Given the description of an element on the screen output the (x, y) to click on. 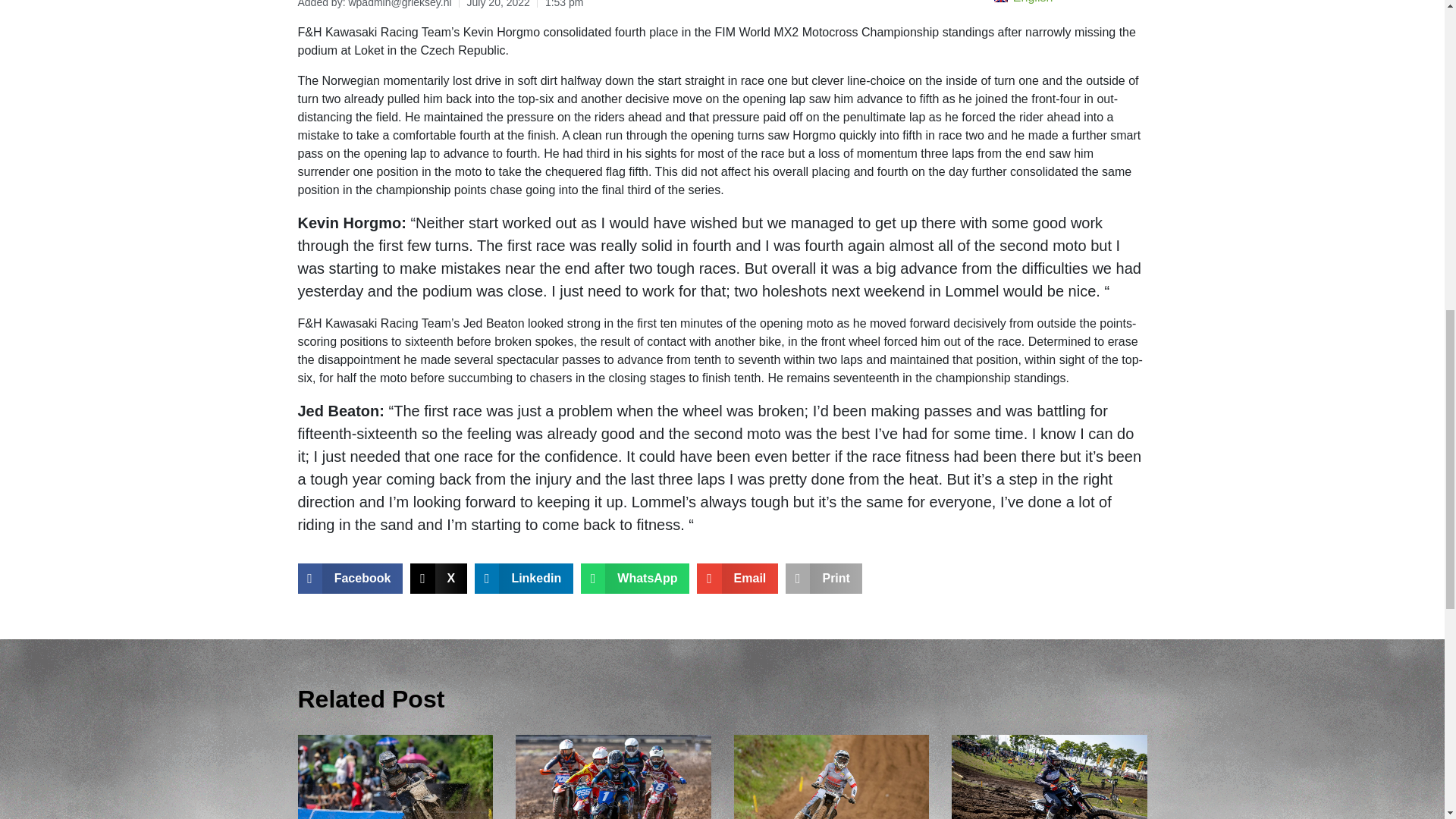
English (1056, 4)
